Given the description of an element on the screen output the (x, y) to click on. 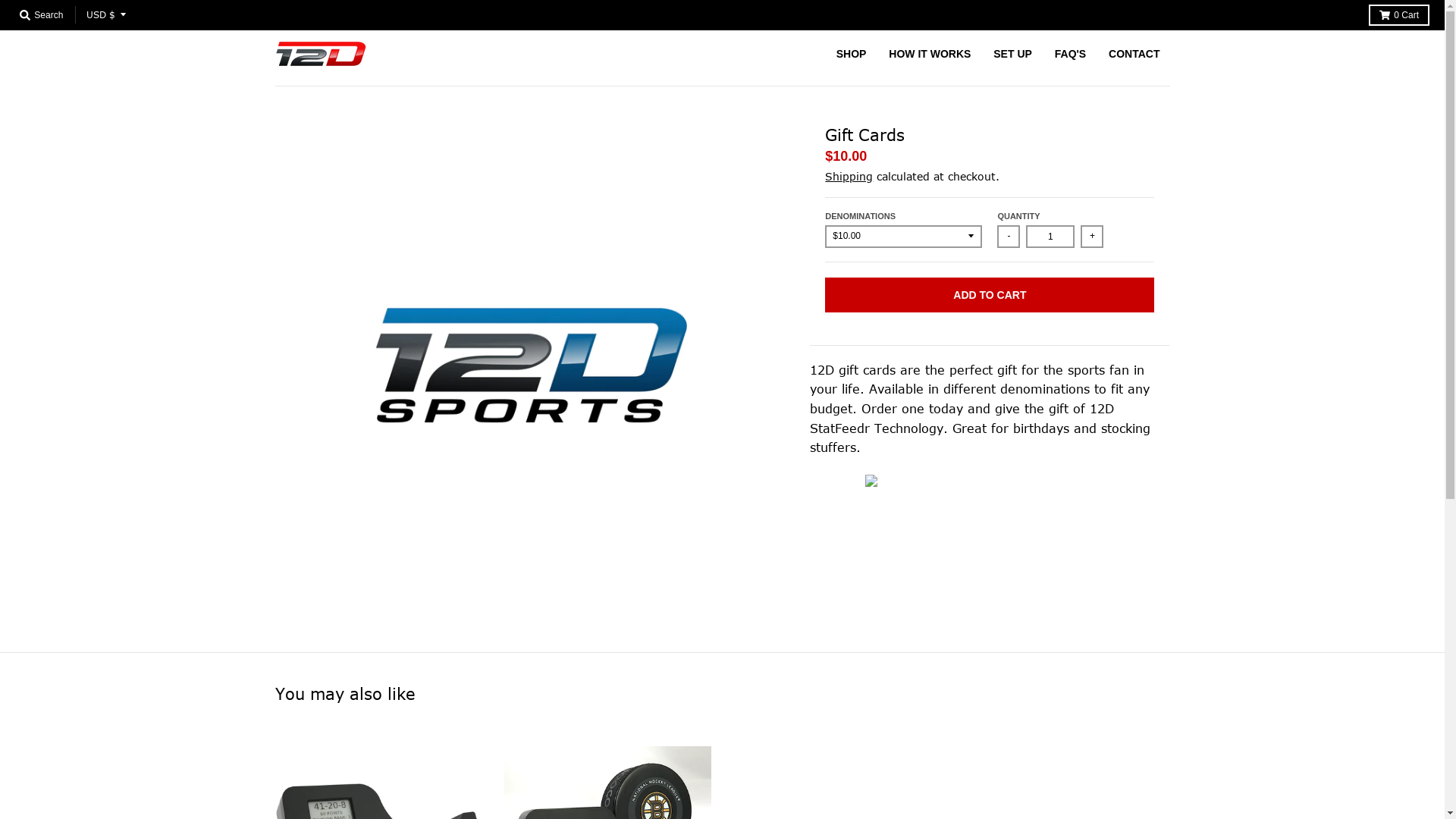
0 Cart Element type: text (1398, 14)
ADD TO CART Element type: text (989, 294)
USD $ Element type: text (105, 14)
- Element type: text (1008, 236)
SHOP Element type: text (851, 53)
Shipping Element type: text (848, 176)
Tweet Element type: text (832, 480)
FAQ'S Element type: text (1069, 53)
SET UP Element type: text (1012, 53)
Search Element type: text (41, 14)
+ Element type: text (1091, 236)
CONTACT Element type: text (1133, 53)
HOW IT WORKS Element type: text (929, 53)
